Given the description of an element on the screen output the (x, y) to click on. 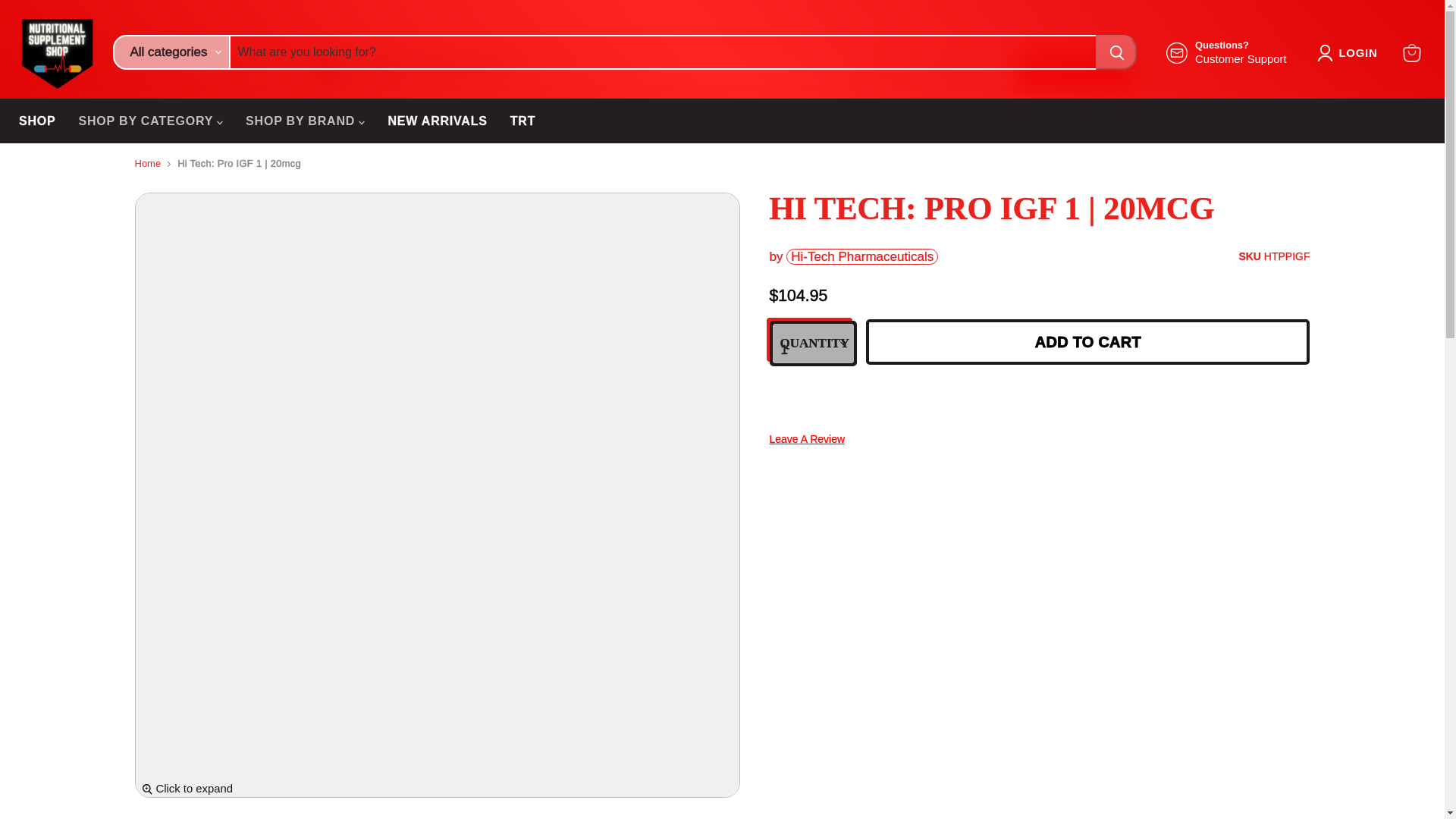
Hi-Tech Pharmaceuticals (861, 256)
LOGIN (1350, 53)
View cart (1226, 52)
SHOP (1411, 52)
1 (36, 120)
